Given the description of an element on the screen output the (x, y) to click on. 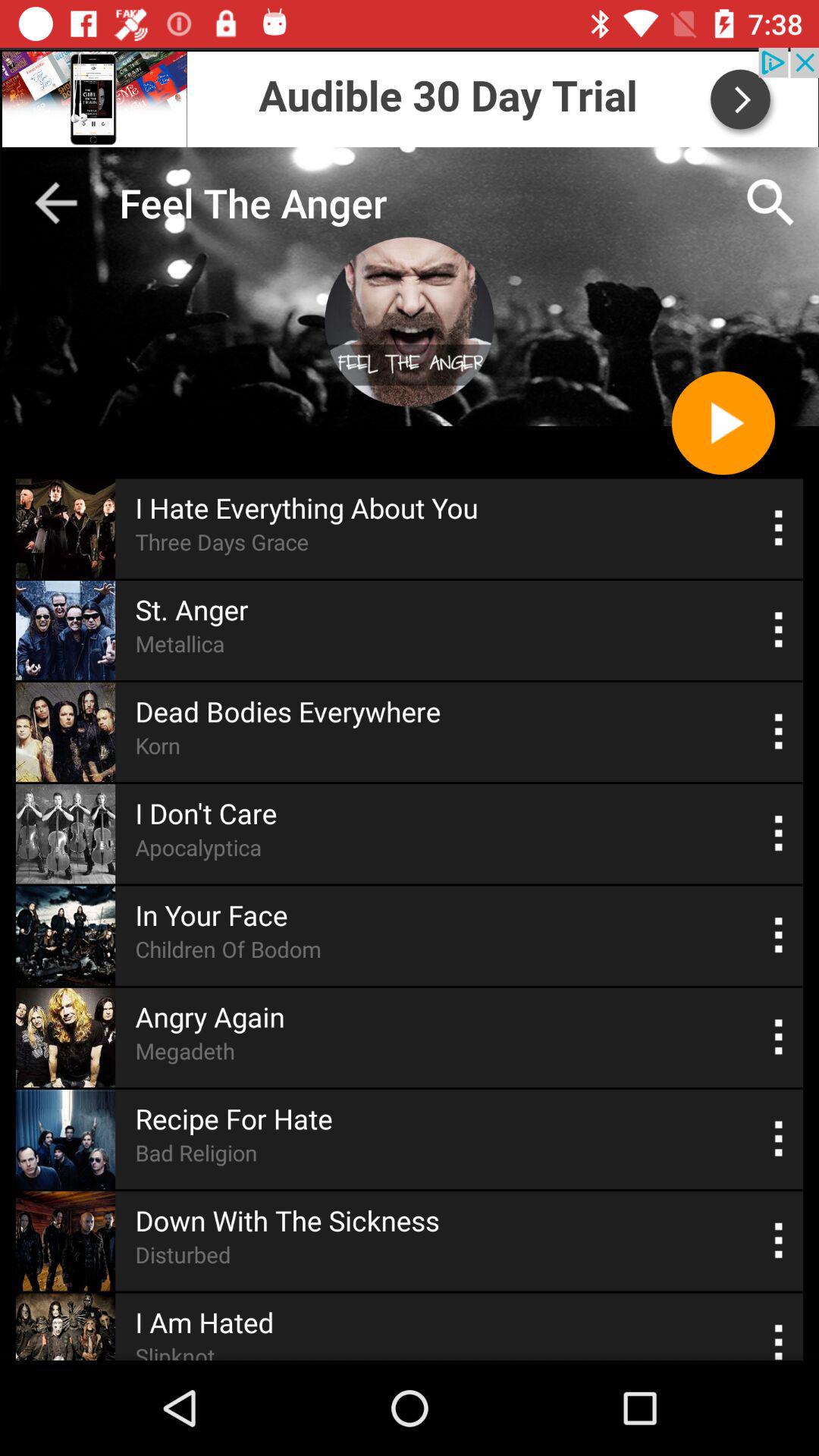
songs select option (779, 1339)
